Given the description of an element on the screen output the (x, y) to click on. 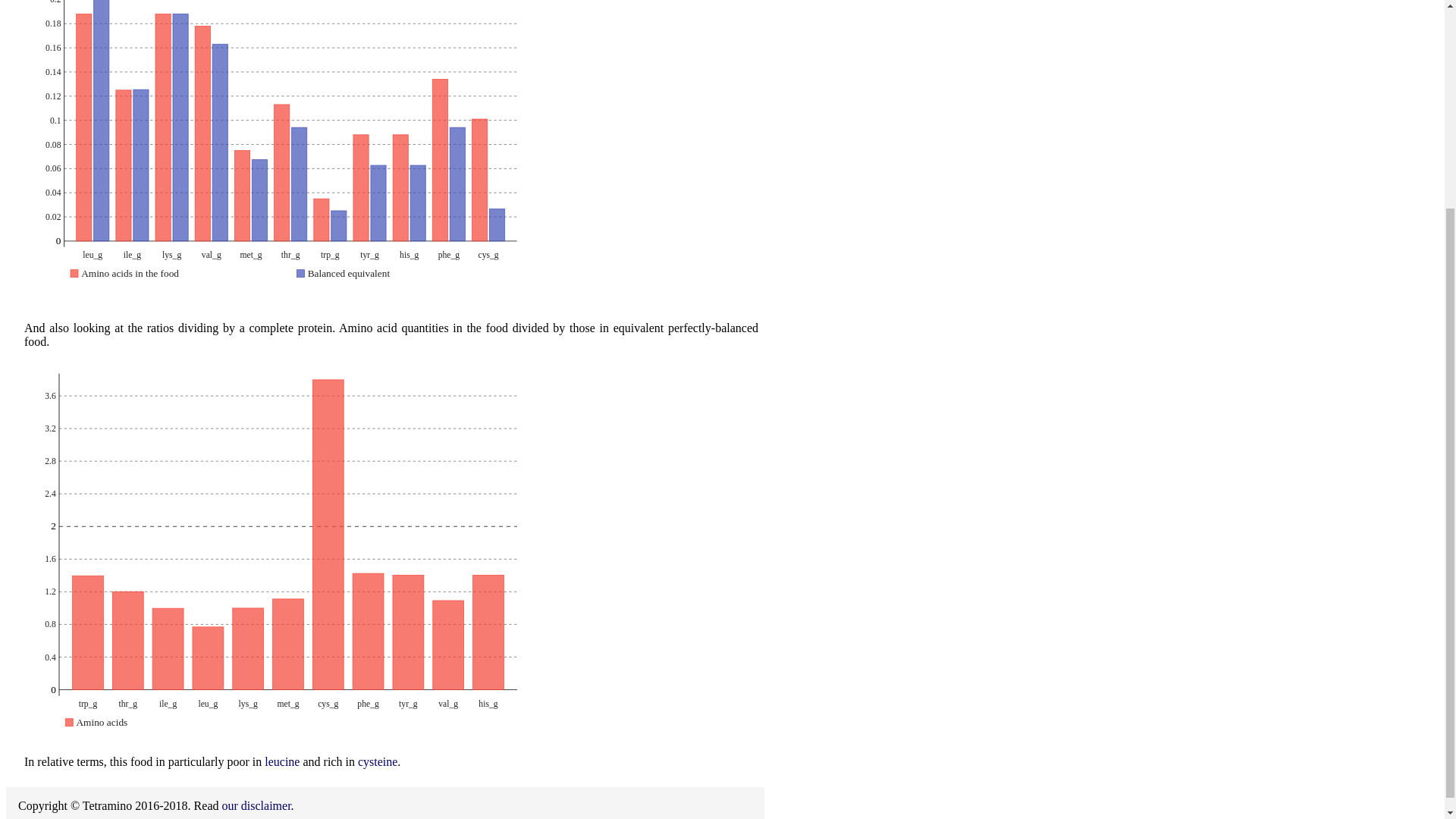
leucine (281, 761)
our disclaimer (255, 805)
cysteine (377, 761)
